Given the description of an element on the screen output the (x, y) to click on. 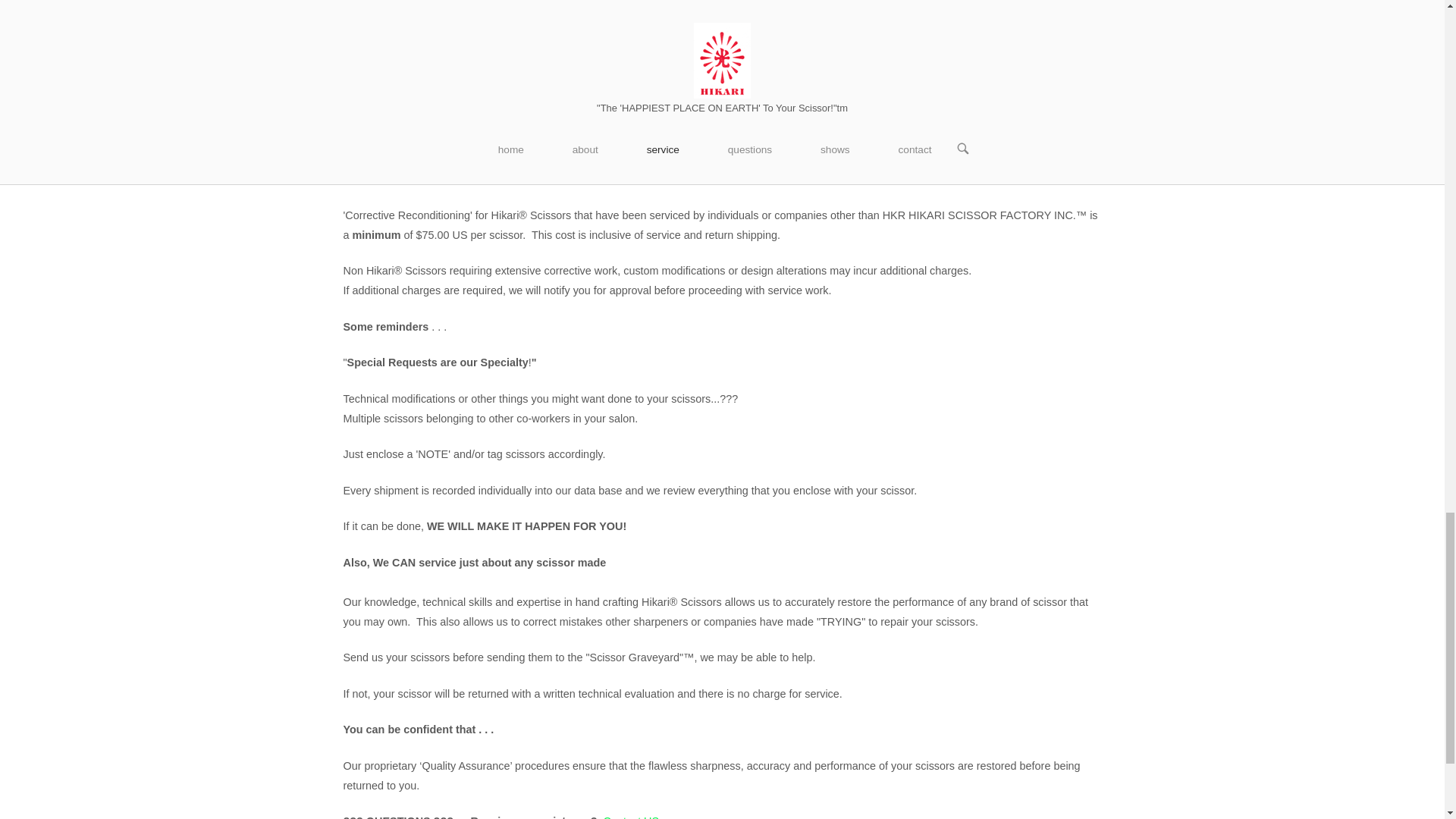
Contact US (631, 816)
contact us (554, 51)
